Given the description of an element on the screen output the (x, y) to click on. 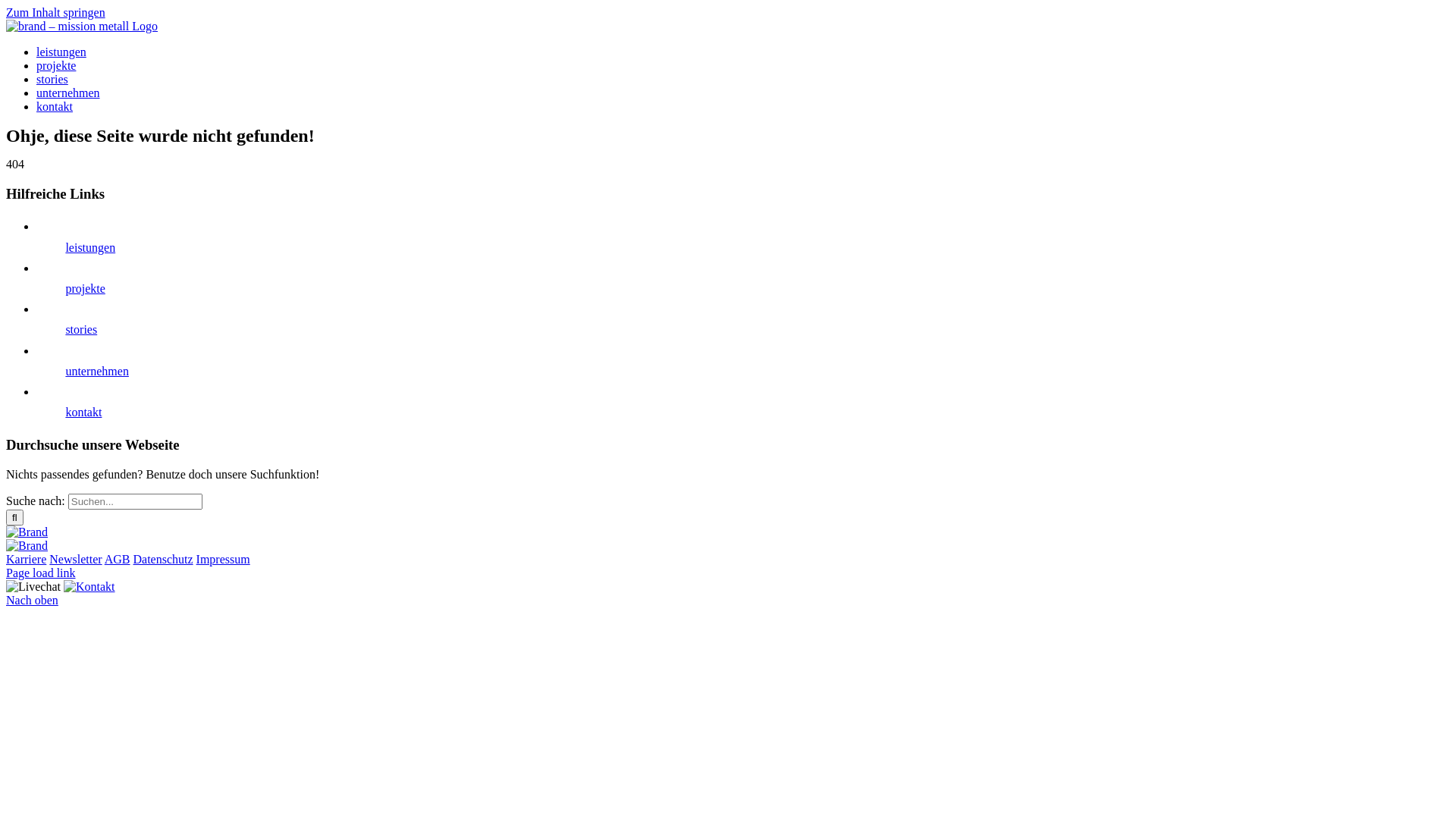
leistungen Element type: text (90, 247)
Newsletter Element type: text (75, 558)
unternehmen Element type: text (96, 370)
projekte Element type: text (55, 65)
kontakt Element type: text (54, 106)
stories Element type: text (81, 329)
leistungen Element type: text (61, 51)
stories Element type: text (52, 78)
Zum Inhalt springen Element type: text (55, 12)
AGB Element type: text (117, 558)
kontakt Element type: text (83, 411)
projekte Element type: text (84, 288)
Impressum Element type: text (223, 558)
unternehmen Element type: text (68, 92)
Nach oben Element type: text (32, 599)
Page load link Element type: text (40, 572)
Datenschutz Element type: text (163, 558)
Karriere Element type: text (26, 558)
